Given the description of an element on the screen output the (x, y) to click on. 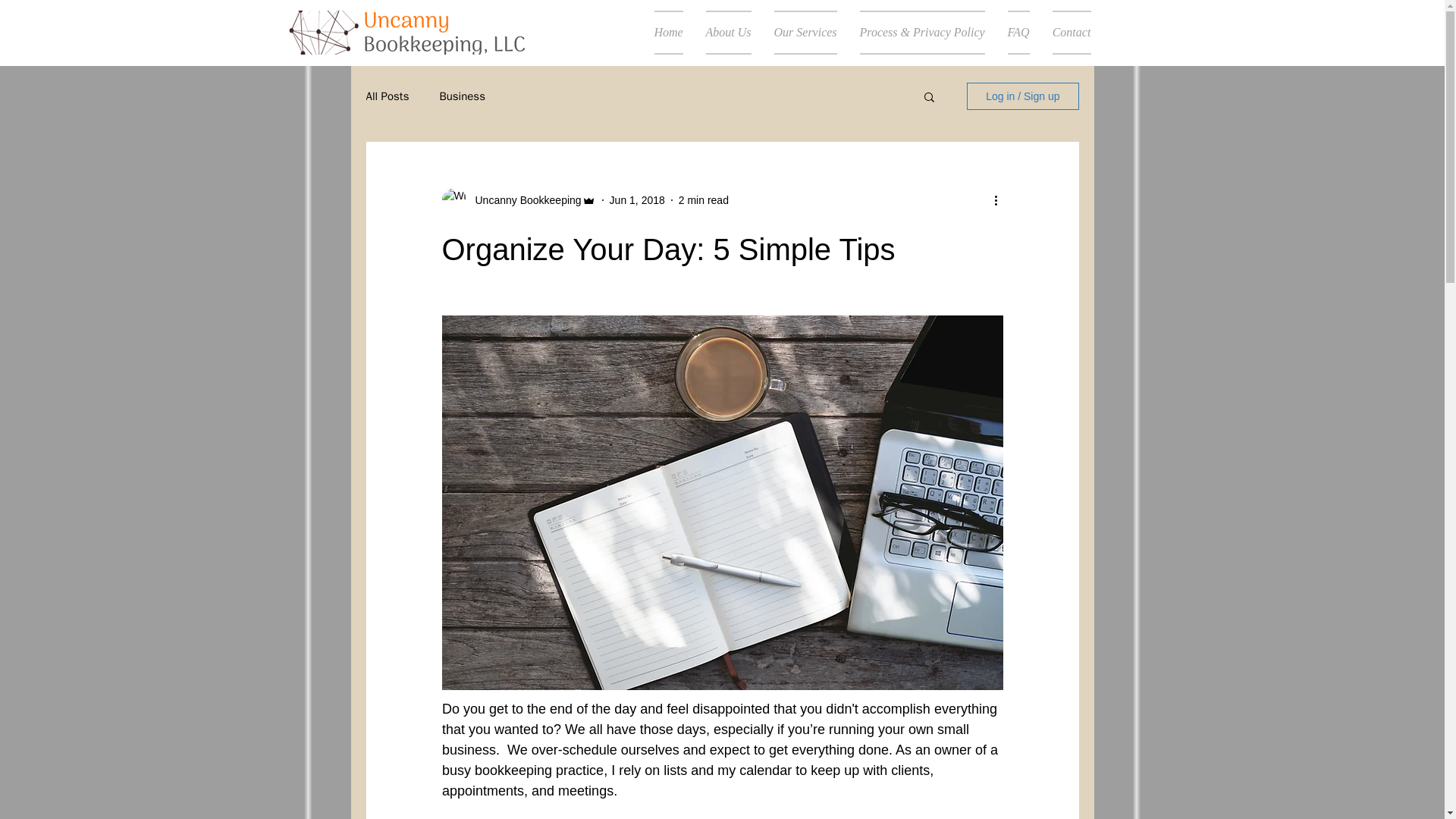
All Posts (387, 96)
About Us (728, 32)
Home (668, 32)
Jun 1, 2018 (637, 200)
Contact (1065, 32)
Uncanny Bookkeeping (522, 200)
FAQ (1018, 32)
Business (461, 96)
Our Services (805, 32)
2 min read (703, 200)
